Given the description of an element on the screen output the (x, y) to click on. 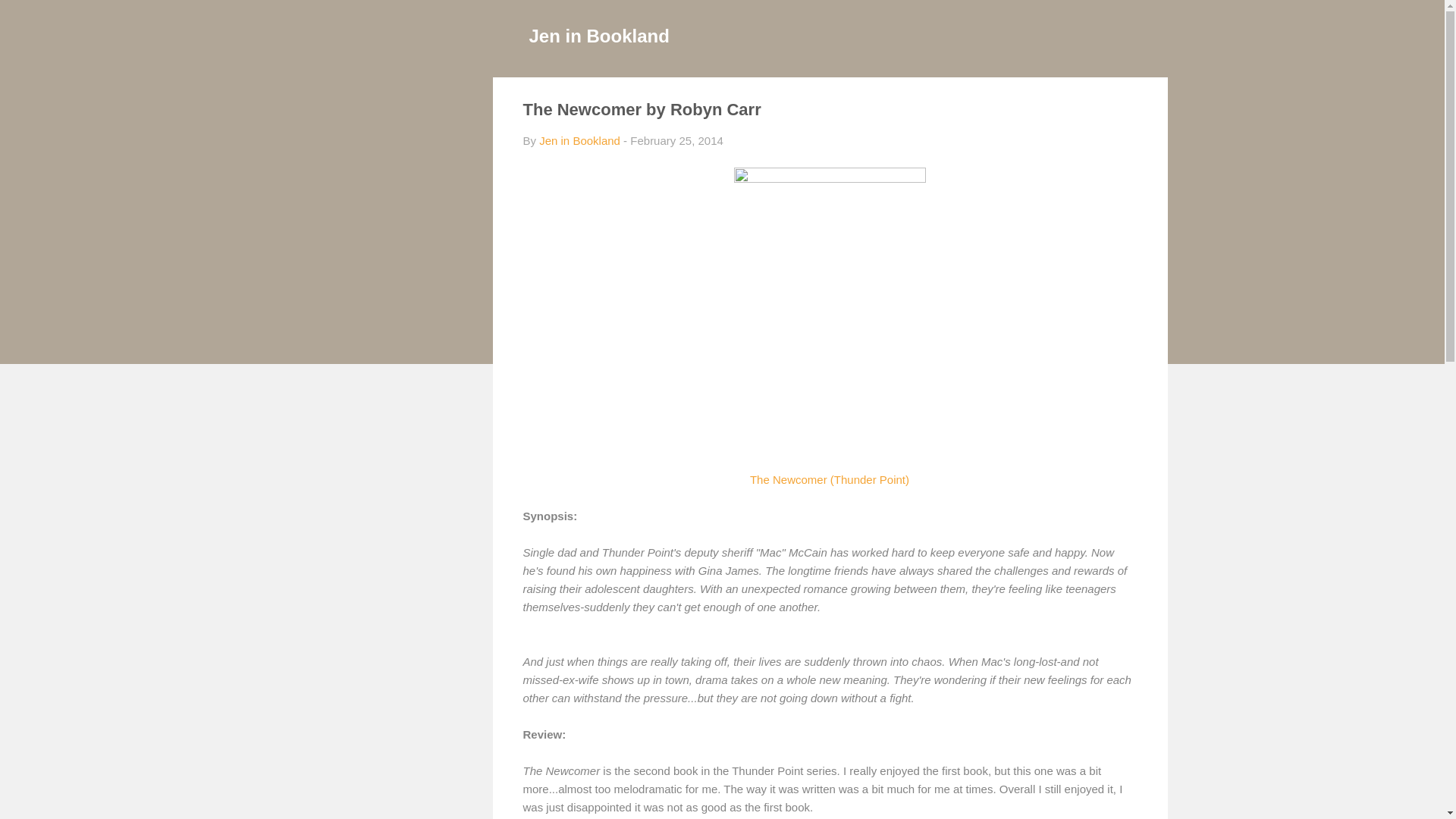
Jen in Bookland (599, 35)
author profile (579, 140)
Search (29, 18)
February 25, 2014 (676, 140)
permanent link (676, 140)
Jen in Bookland (579, 140)
